Given the description of an element on the screen output the (x, y) to click on. 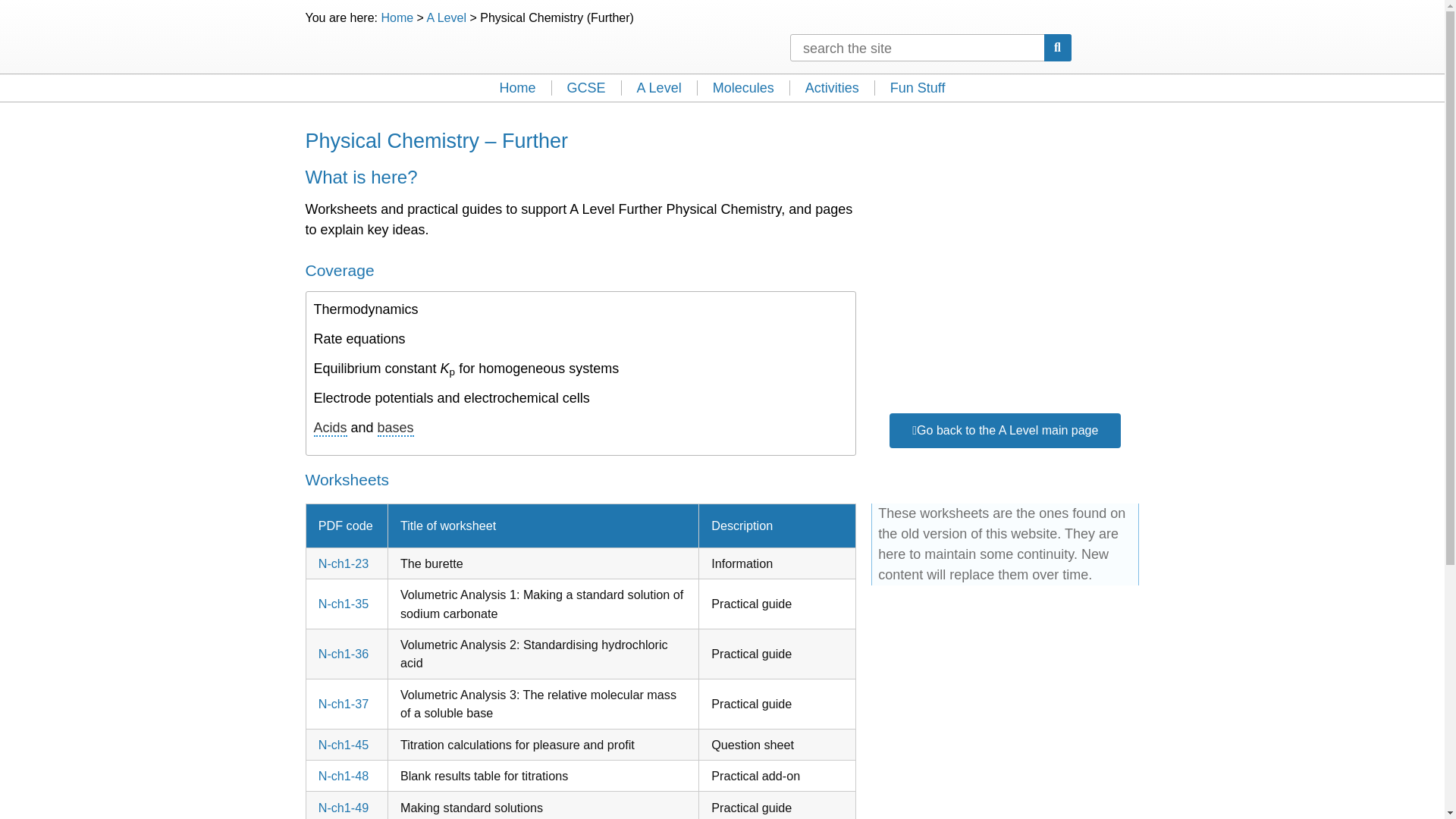
Home (517, 87)
A Level (445, 17)
A Level (659, 87)
Home (396, 17)
GCSE (586, 87)
Glossary: base (395, 428)
Glossary: acid (330, 428)
